Given the description of an element on the screen output the (x, y) to click on. 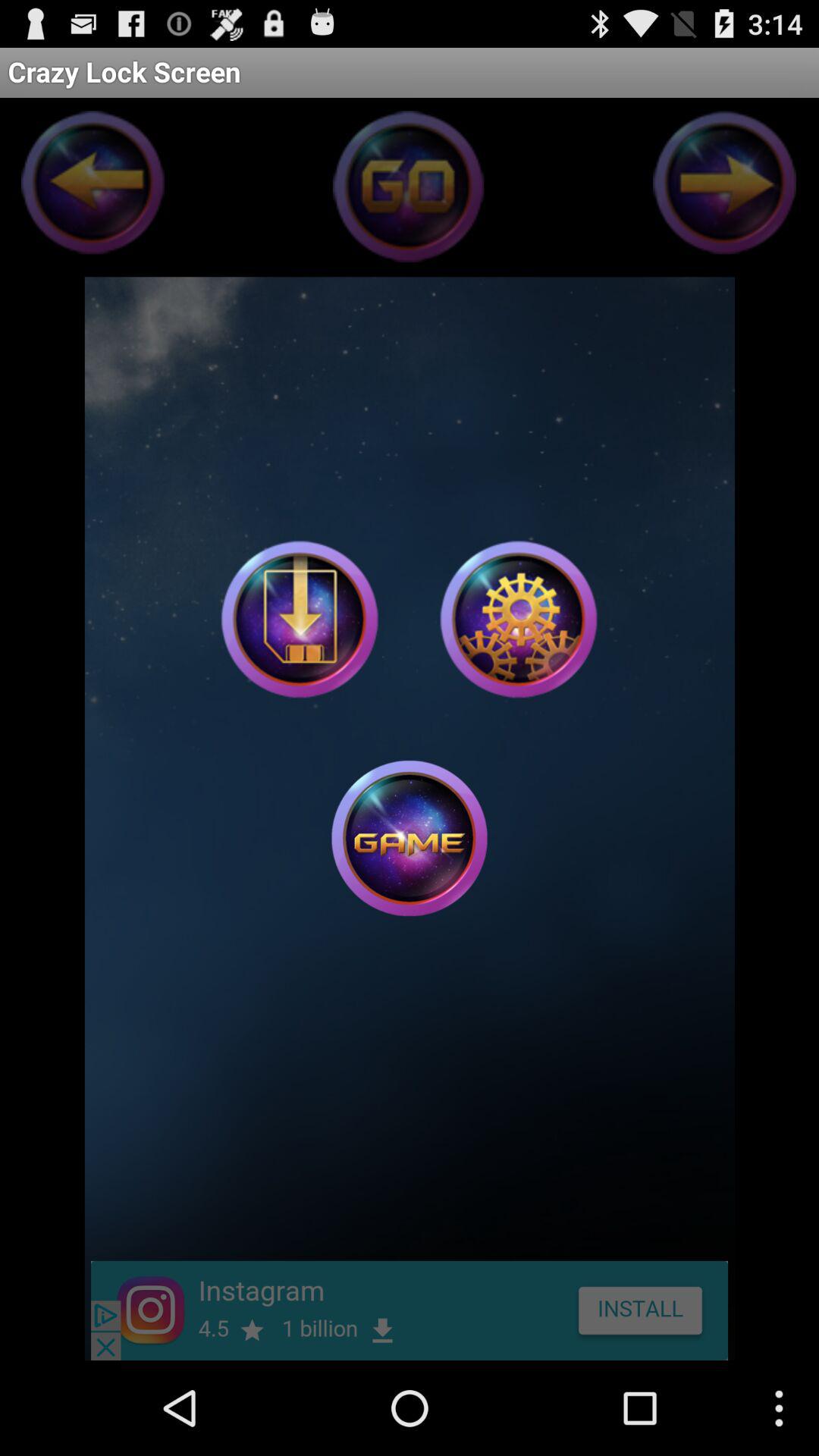
save game (299, 618)
